Given the description of an element on the screen output the (x, y) to click on. 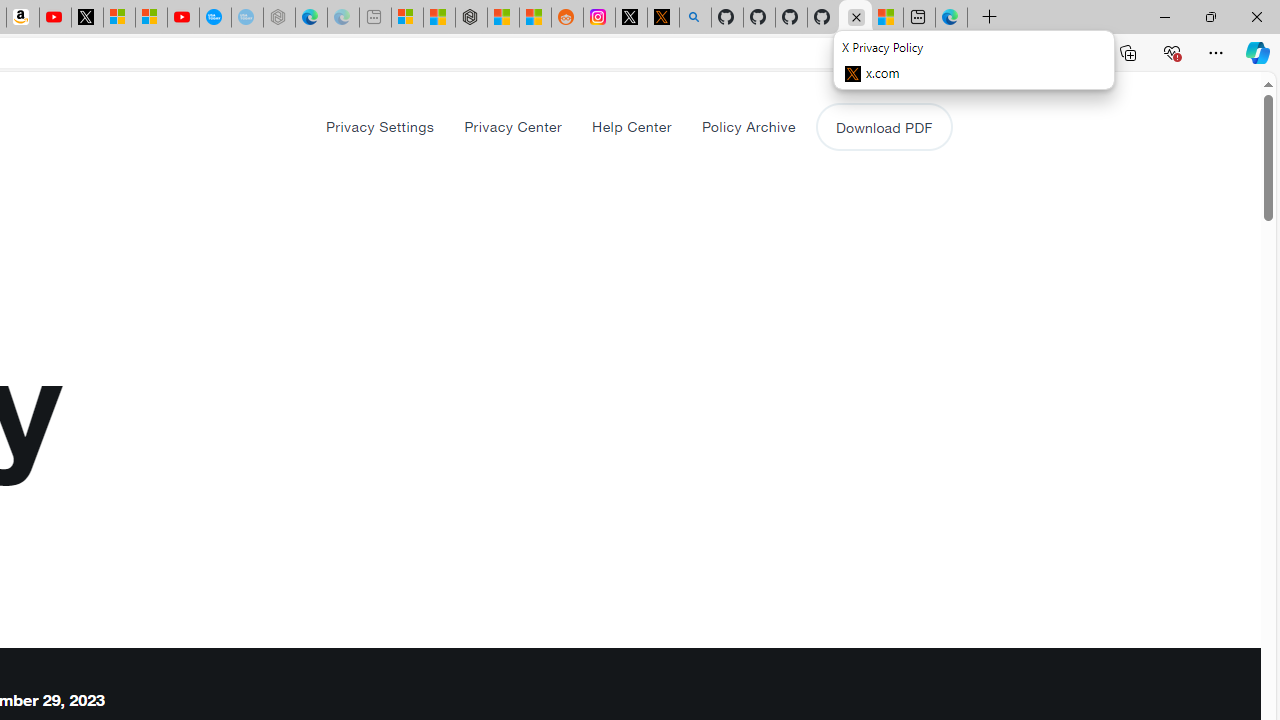
Enter Immersive Reader (F9) (991, 53)
Policy Archive (748, 126)
Log in to X / X (630, 17)
Shanghai, China Weather trends | Microsoft Weather (535, 17)
Nordace - Nordace has arrived Hong Kong - Sleeping (279, 17)
Shopping in Microsoft Edge (910, 53)
